Given the description of an element on the screen output the (x, y) to click on. 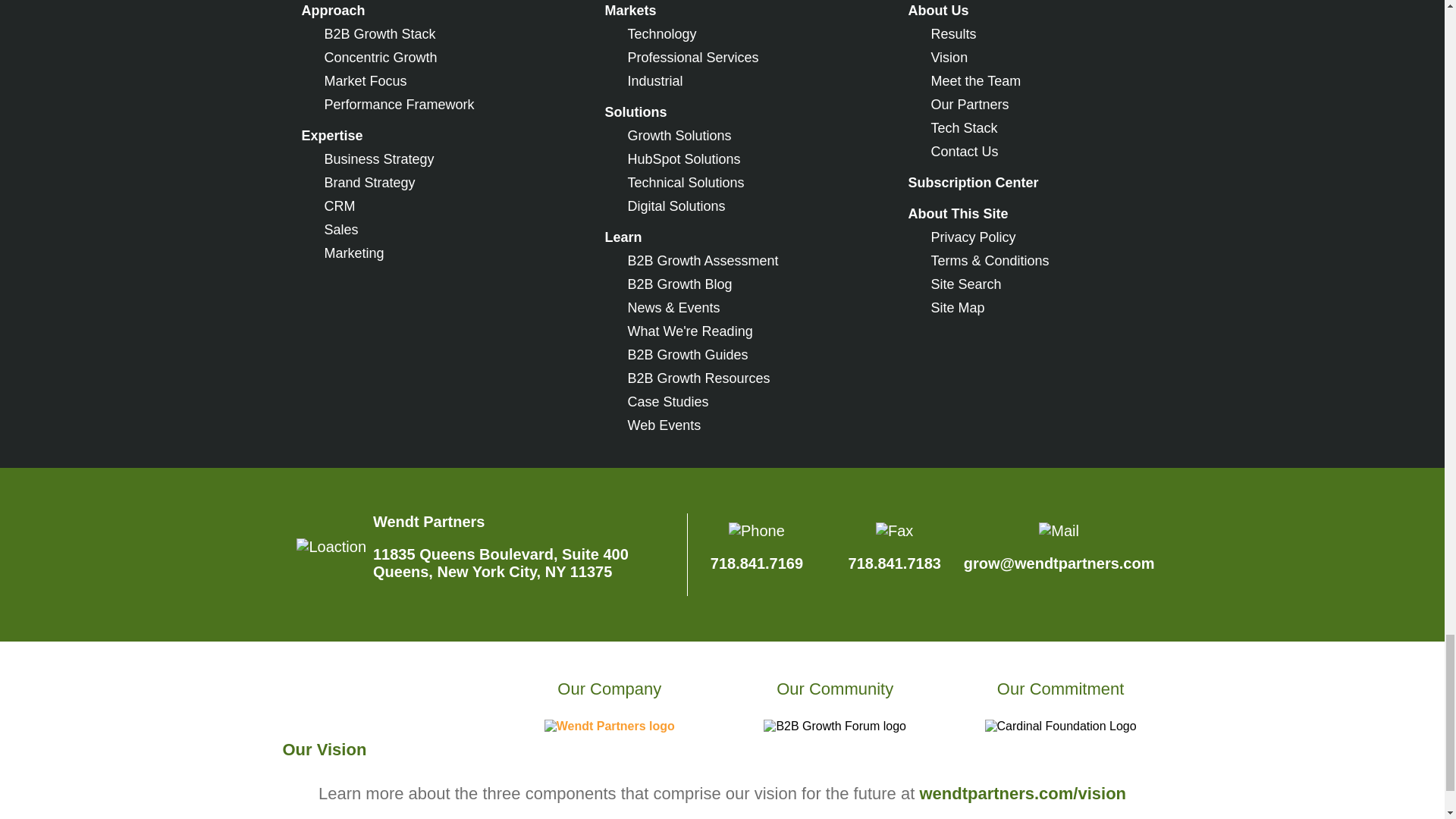
Wendt Partners logo (609, 726)
Cardinal Foundation Logo (1061, 726)
B2B Growth Forum logo (833, 726)
Loaction (331, 547)
